Given the description of an element on the screen output the (x, y) to click on. 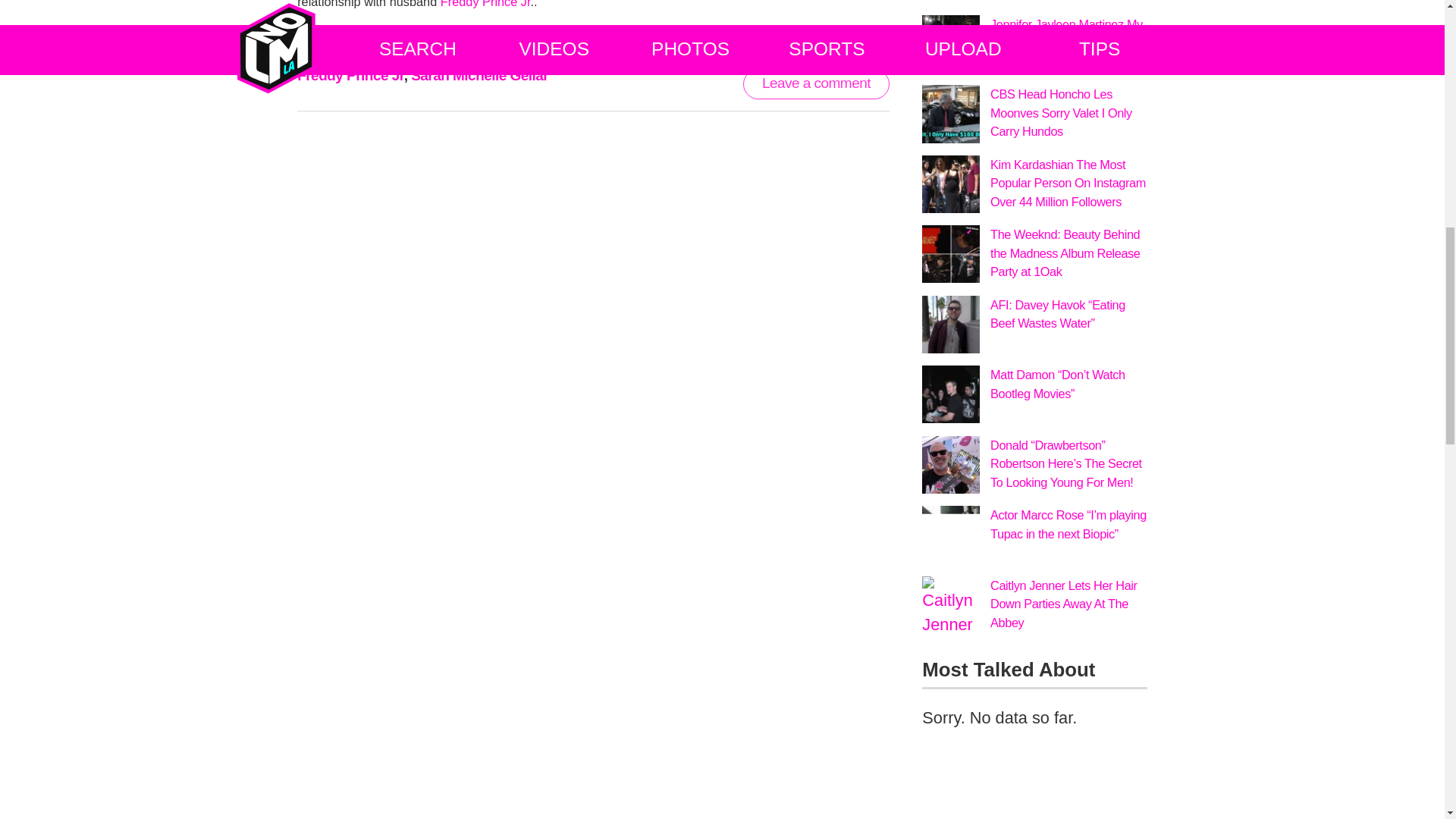
Leave a comment (815, 83)
CBS Head Honcho Les Moonves Sorry Valet I Only Carry Hundos (950, 113)
Freddy Prince Jr (486, 4)
Freddy Prince Jr (350, 75)
Jennifer Jayleen Martinez My Pro Skater Ex-BF Abused Me (1068, 33)
Sarah Michelle Gellar talks parenting skills  (767, 33)
read more (767, 33)
Jennifer Jayleen Martinez My Pro Skater Ex-BF Abused Me (1068, 33)
